Given the description of an element on the screen output the (x, y) to click on. 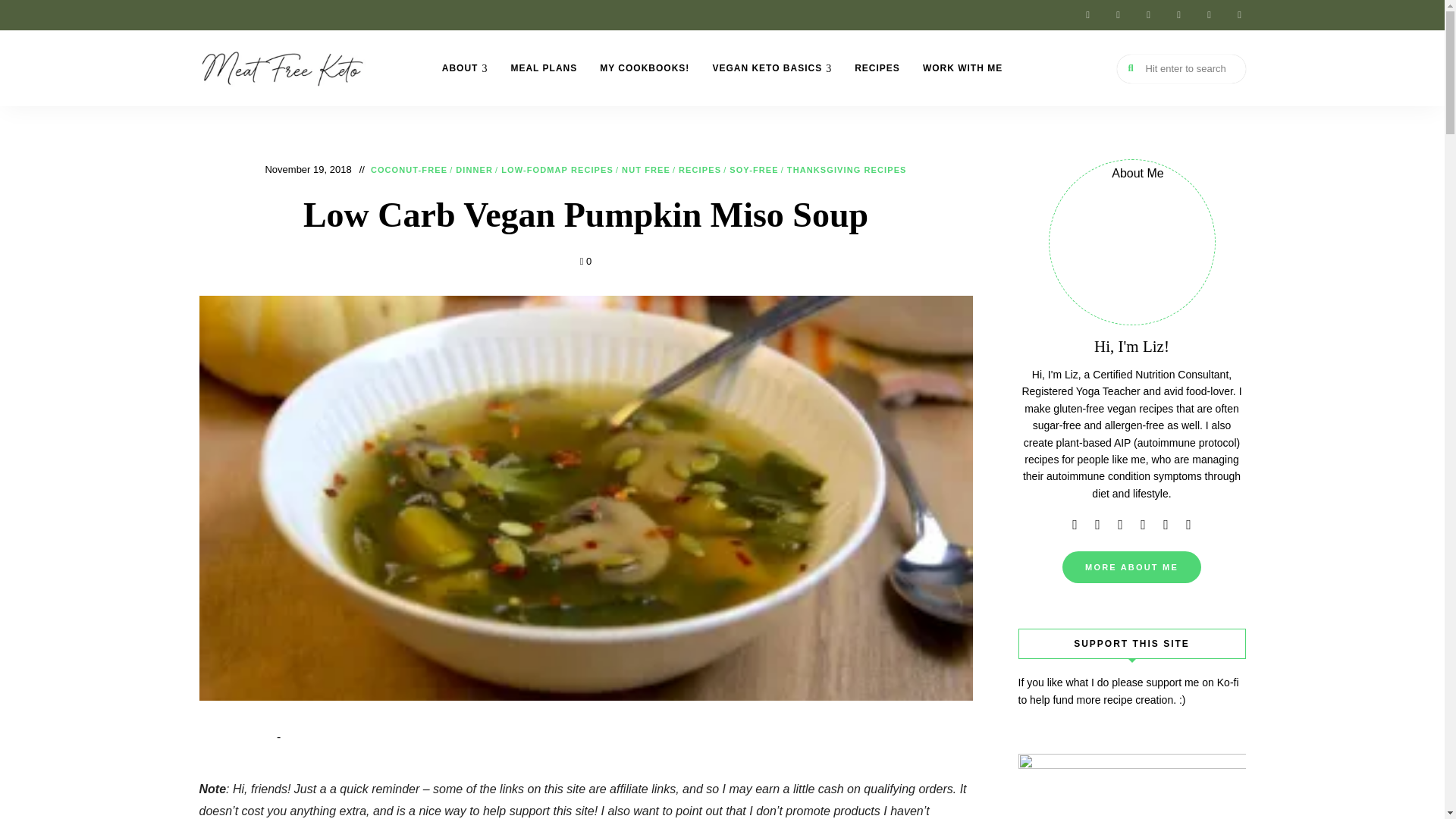
THANKSGIVING RECIPES (847, 170)
Facebook (1117, 15)
ABOUT (464, 68)
COCONUT-FREE (408, 170)
NUT FREE (645, 170)
MEAL PLANS (543, 68)
DINNER (474, 170)
MY COOKBOOKS! (644, 68)
WORK WITH ME (962, 68)
TikTok (1147, 15)
